Given the description of an element on the screen output the (x, y) to click on. 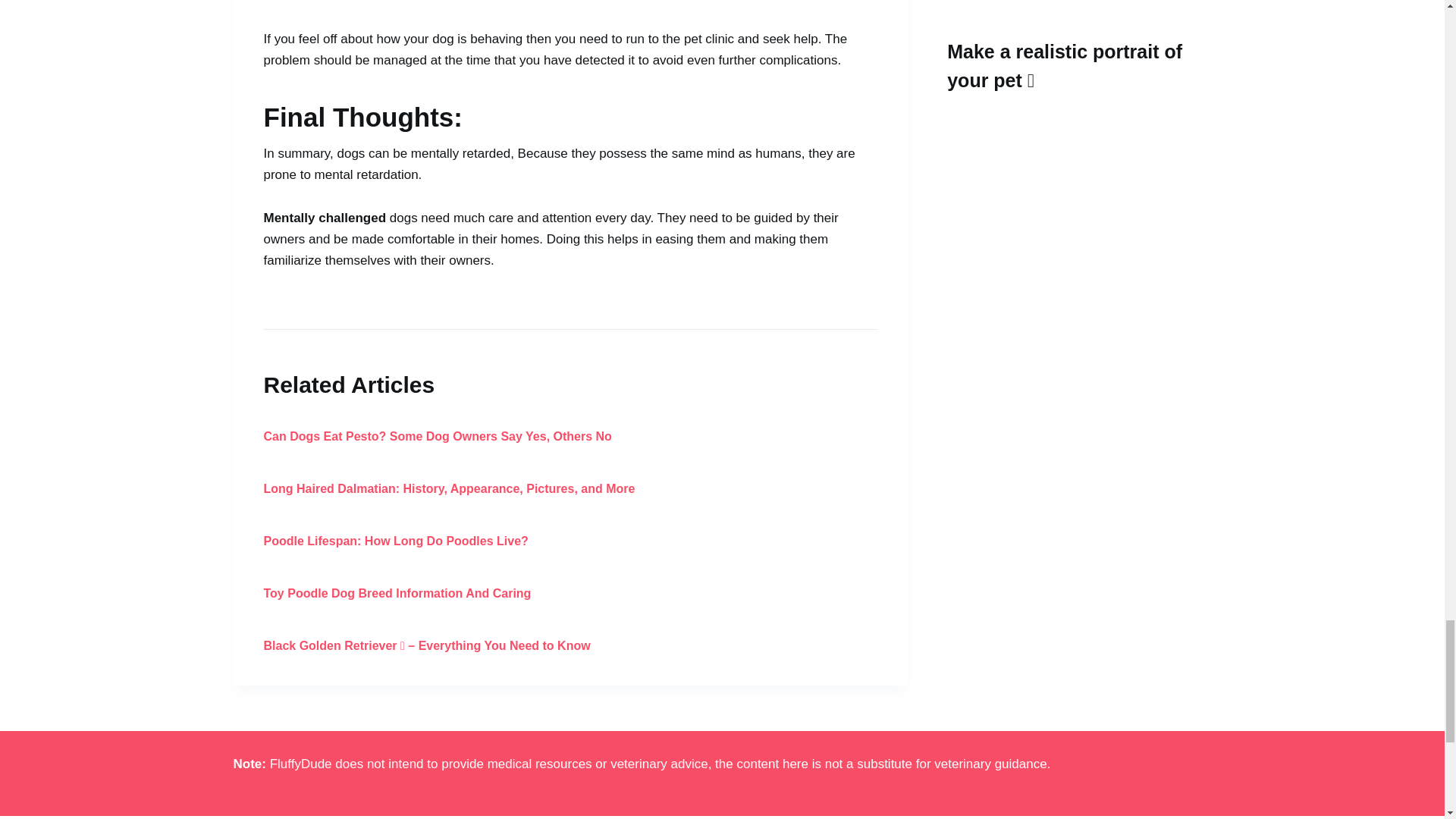
Can Dogs Eat Pesto? Some Dog Owners Say Yes, Others No (437, 436)
Toy Poodle Dog Breed Information And Caring (397, 593)
Poodle Lifespan: How Long Do Poodles Live? (395, 540)
